Given the description of an element on the screen output the (x, y) to click on. 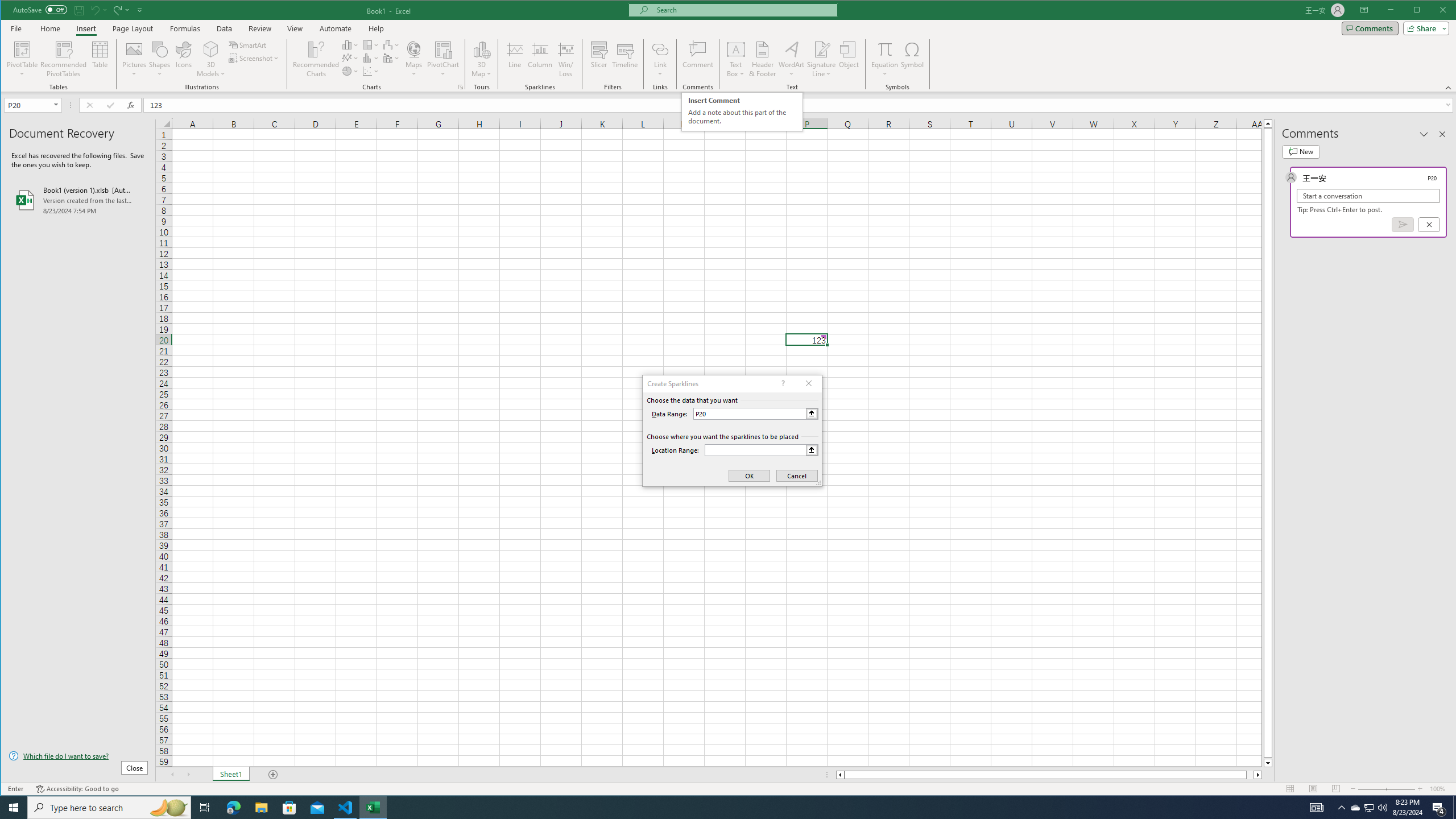
3D Map (481, 59)
Insert Line or Area Chart (350, 57)
Header & Footer... (762, 59)
Link (659, 48)
SmartArt... (248, 44)
Equation (884, 59)
